Given the description of an element on the screen output the (x, y) to click on. 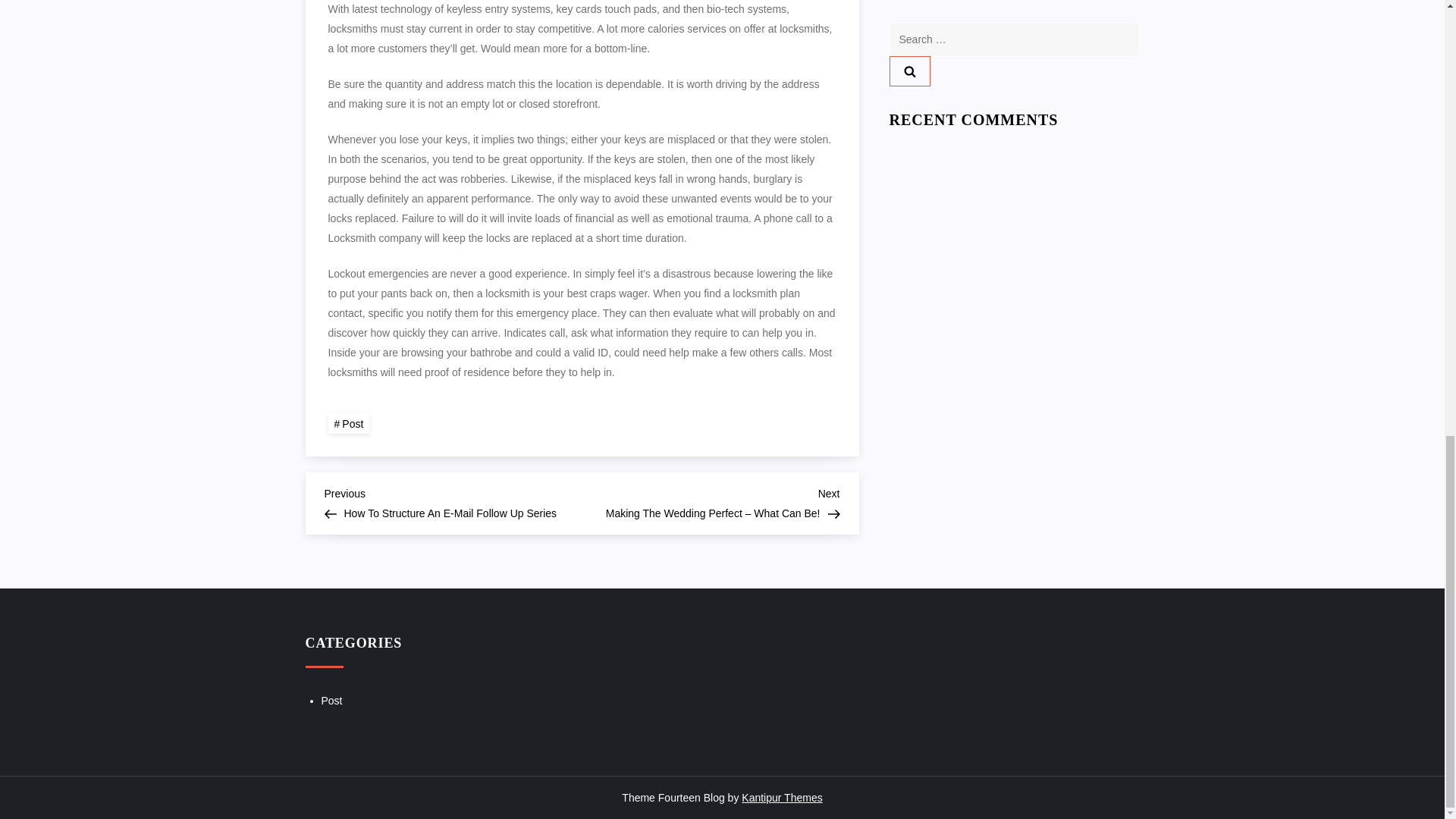
Post (348, 423)
Post (331, 700)
Kantipur Themes (781, 797)
